Given the description of an element on the screen output the (x, y) to click on. 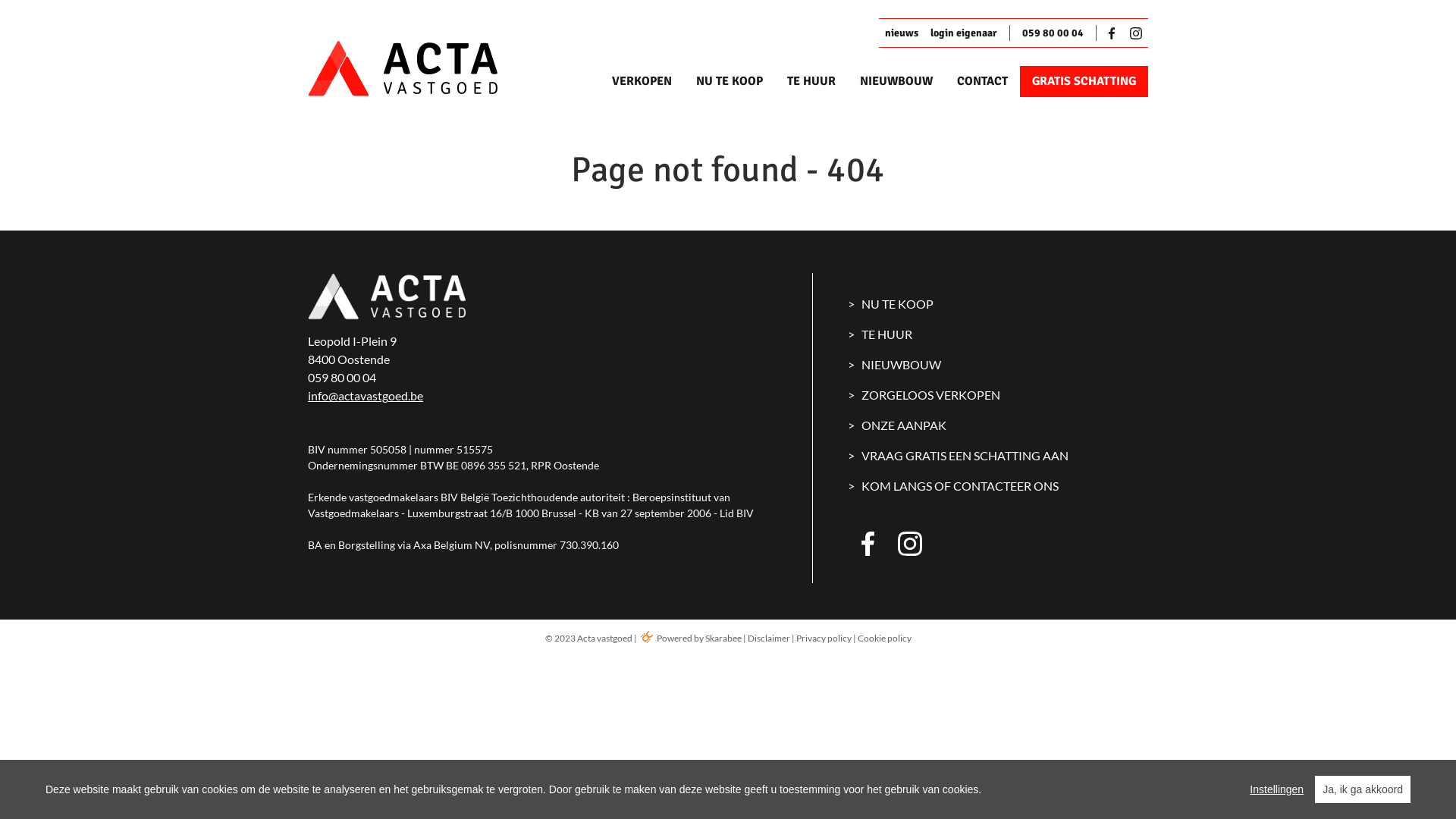
TE HUUR Element type: text (811, 81)
Instellingen Element type: text (1276, 789)
Facebook Element type: text (1114, 33)
ZORGELOOS VERKOPEN Element type: text (998, 394)
info@actavastgoed.be Element type: text (365, 395)
FACEBOOK Element type: text (873, 543)
NIEUWBOUW Element type: text (998, 364)
CONTACT Element type: text (982, 81)
TE HUUR Element type: text (998, 334)
INSTAGRAM Element type: text (909, 543)
NIEUWBOUW Element type: text (895, 81)
Privacy policy Element type: text (823, 637)
NU TE KOOP Element type: text (729, 81)
ONZE AANPAK Element type: text (998, 425)
Powered by Skarabee Element type: text (689, 637)
Instagram Element type: text (1135, 33)
nieuws Element type: text (901, 32)
Link homepage Element type: hover (428, 68)
NU TE KOOP Element type: text (998, 303)
login eigenaar Element type: text (963, 32)
059 80 00 04 Element type: text (341, 377)
VRAAG GRATIS EEN SCHATTING AAN Element type: text (998, 455)
Ja, ik ga akkoord Element type: text (1362, 789)
Cookie policy Element type: text (883, 637)
Link homepage Element type: hover (386, 296)
VERKOPEN Element type: text (641, 81)
059 80 00 04 Element type: text (1052, 32)
Disclaimer Element type: text (768, 637)
GRATIS SCHATTING Element type: text (1083, 81)
KOM LANGS OF CONTACTEER ONS Element type: text (998, 485)
Menu overslaan en naar de inhoud gaan Element type: text (0, 0)
